Given the description of an element on the screen output the (x, y) to click on. 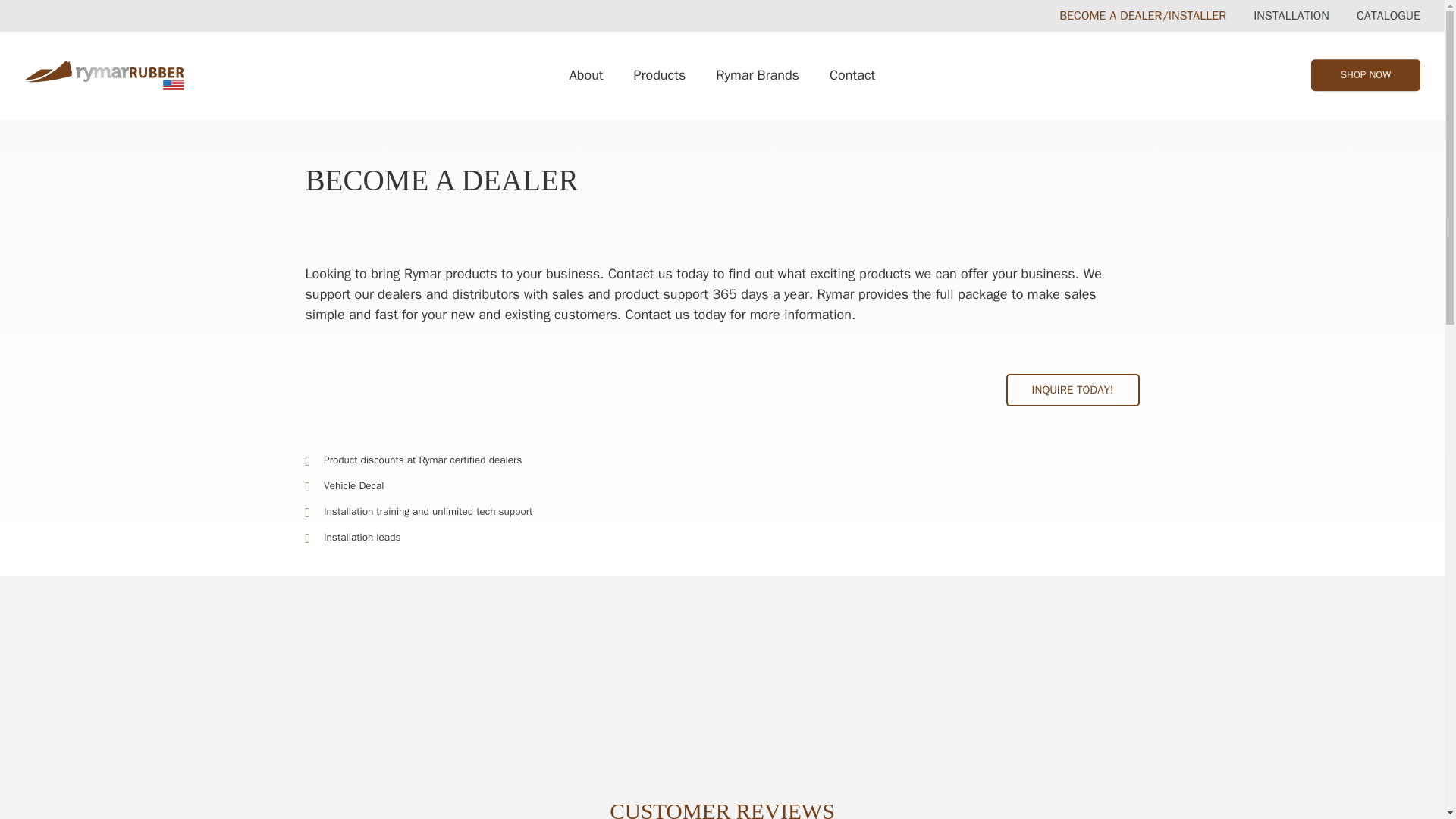
INQUIRE TODAY! (1073, 389)
Contact (721, 75)
SHOP NOW (851, 75)
CATALOGUE (1366, 75)
About (1388, 15)
INSTALLATION (586, 75)
Rymar Brands (1291, 15)
